Given the description of an element on the screen output the (x, y) to click on. 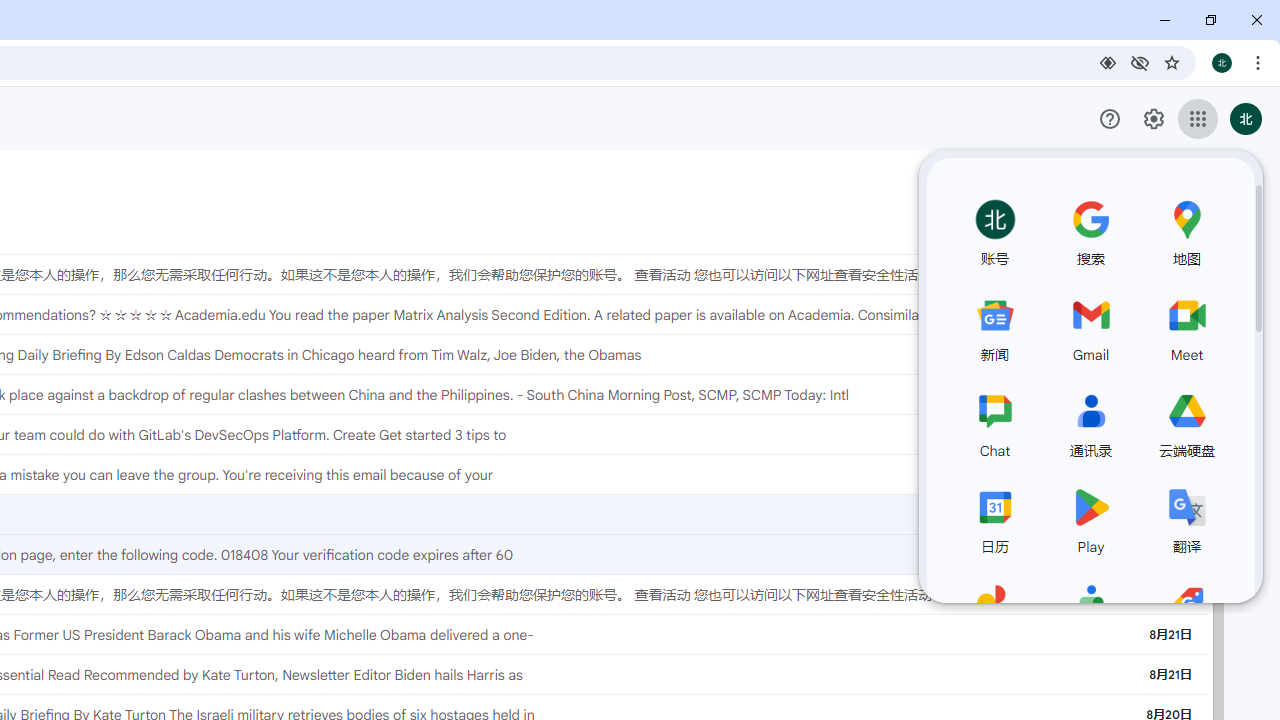
Close (1256, 20)
Keep (1251, 234)
Chrome (1260, 62)
Third-party cookies blocked (1139, 62)
